Given the description of an element on the screen output the (x, y) to click on. 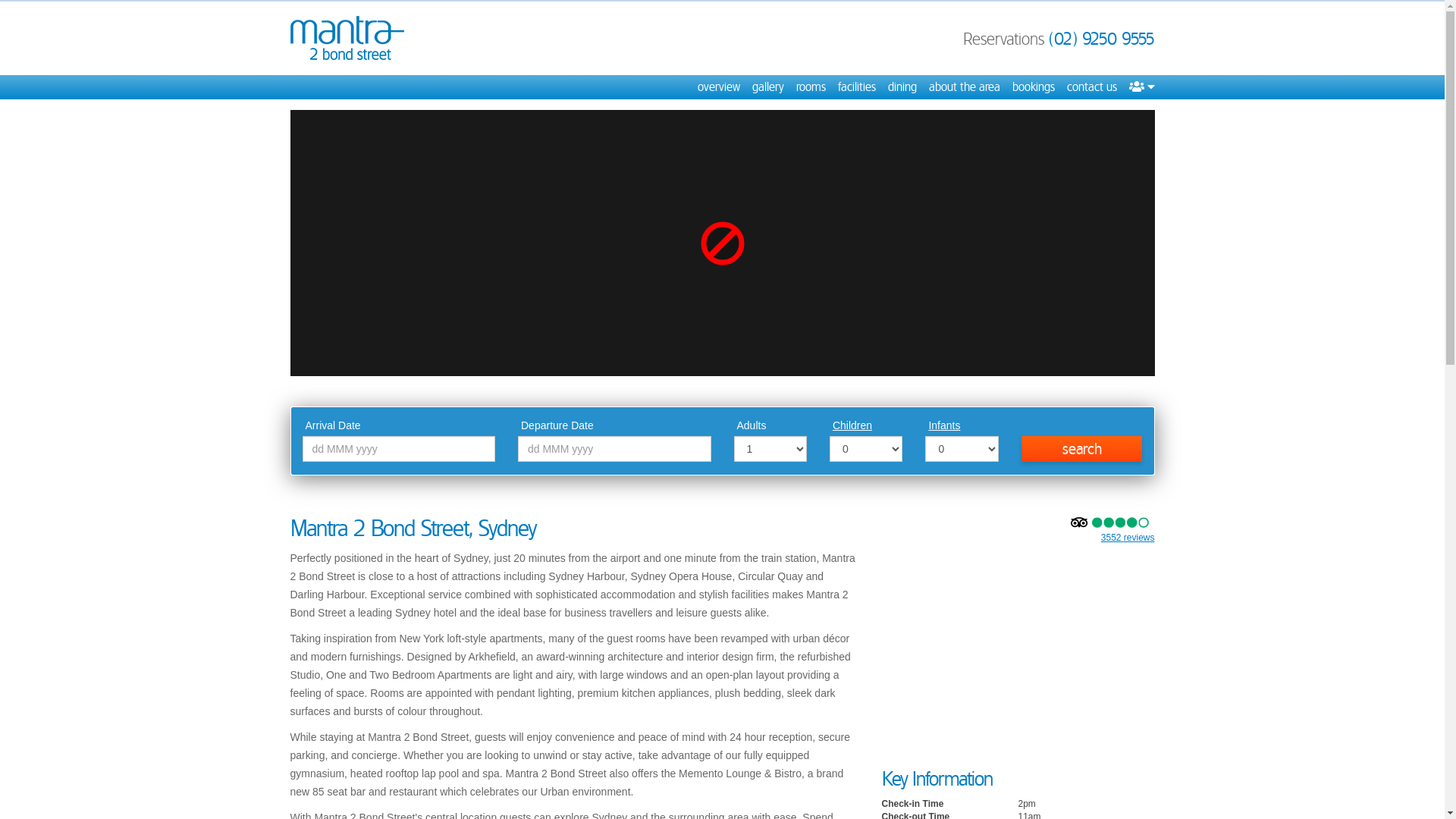
(02) 9250 9555 Element type: text (1101, 38)
dining Element type: text (901, 87)
3552 reviews Element type: text (1127, 537)
rooms Element type: text (810, 87)
overview Element type: text (718, 87)
search Element type: text (1081, 448)
Mantra 2 Bond Street Element type: hover (346, 37)
contact us Element type: text (1091, 87)
bookings Element type: text (1032, 87)
gallery Element type: text (768, 87)
facilities Element type: text (856, 87)
about the area Element type: text (963, 87)
